Given the description of an element on the screen output the (x, y) to click on. 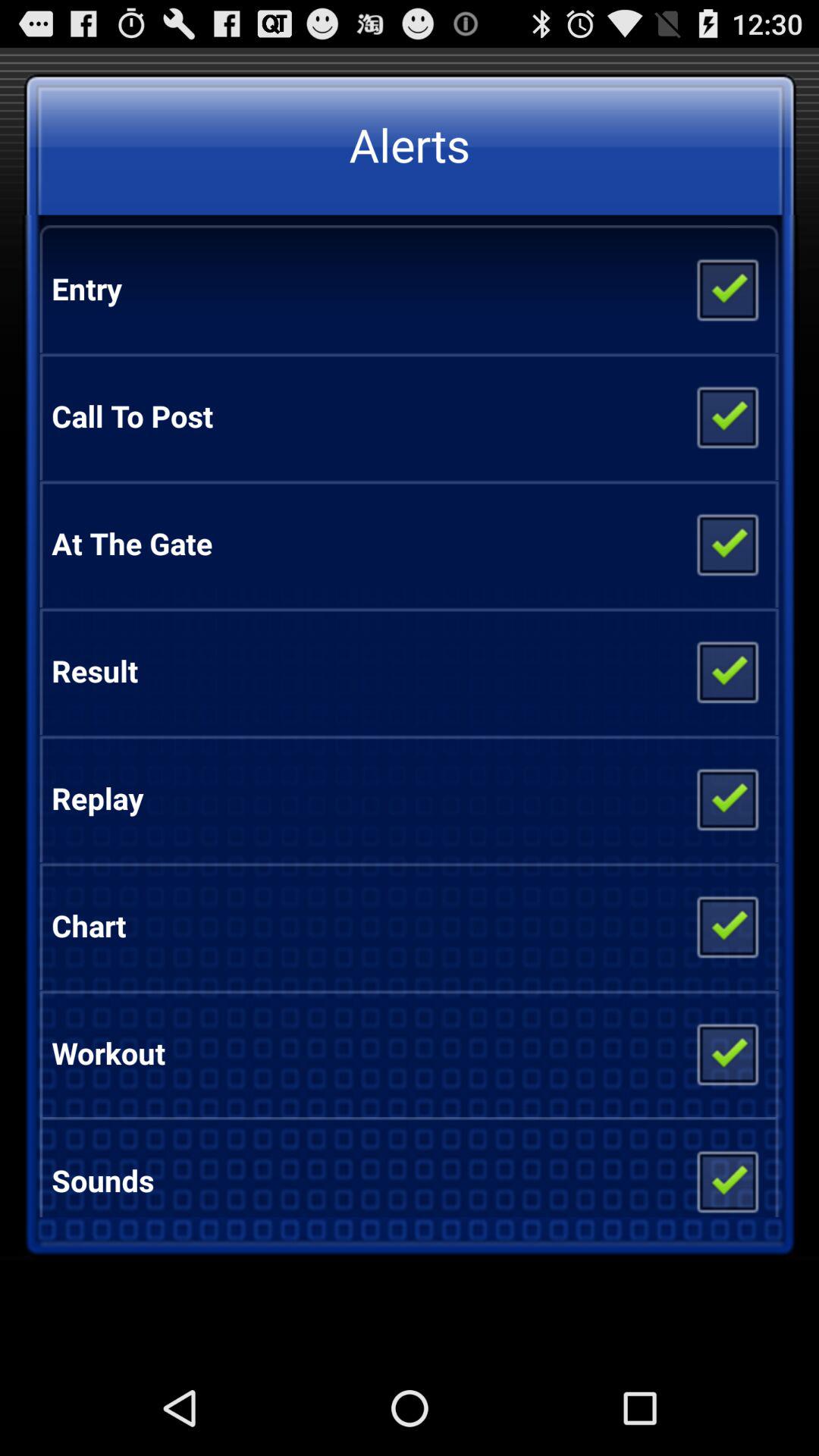
select the item below the alerts item (726, 288)
